Given the description of an element on the screen output the (x, y) to click on. 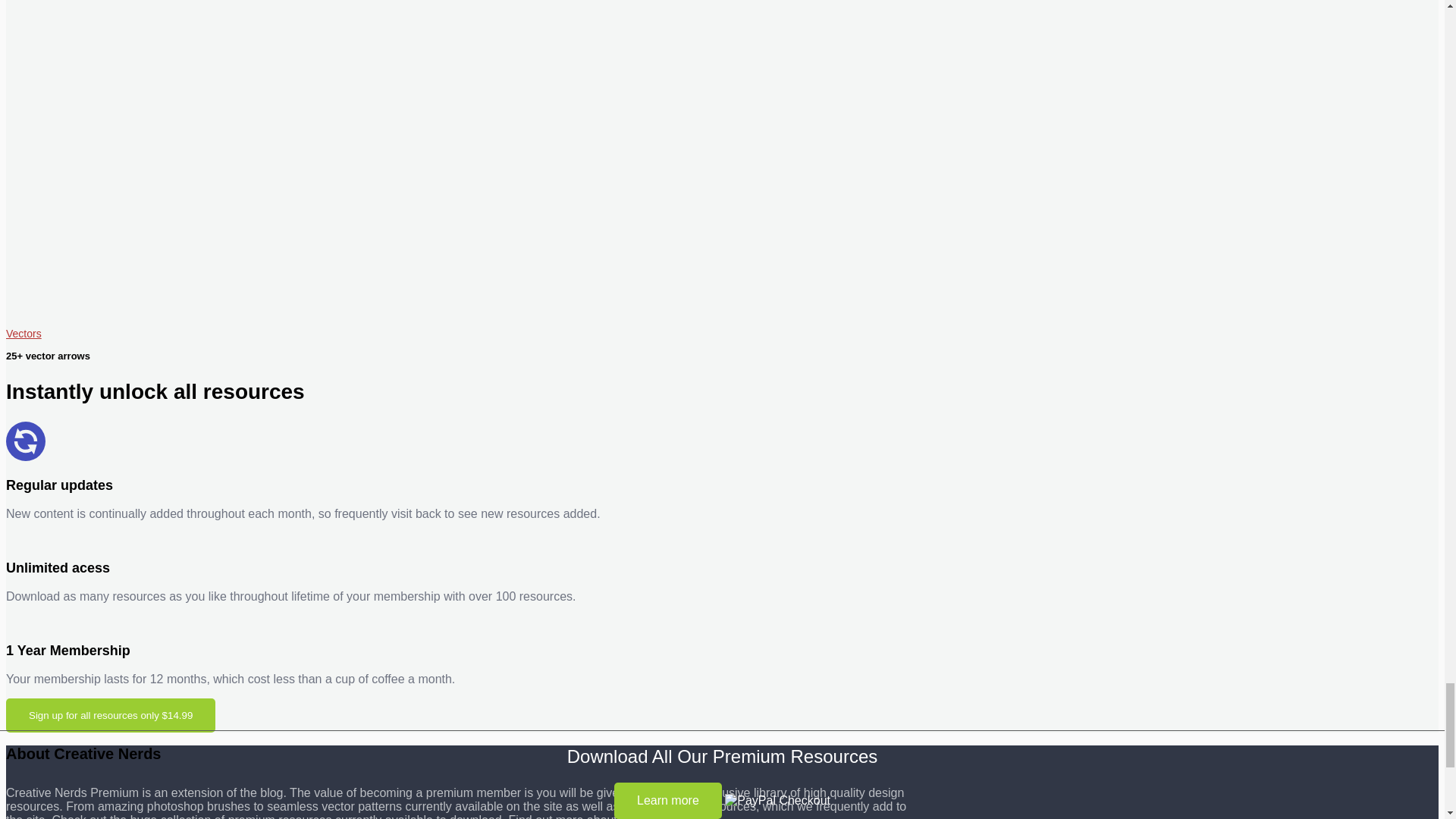
Vectors (23, 331)
